Given the description of an element on the screen output the (x, y) to click on. 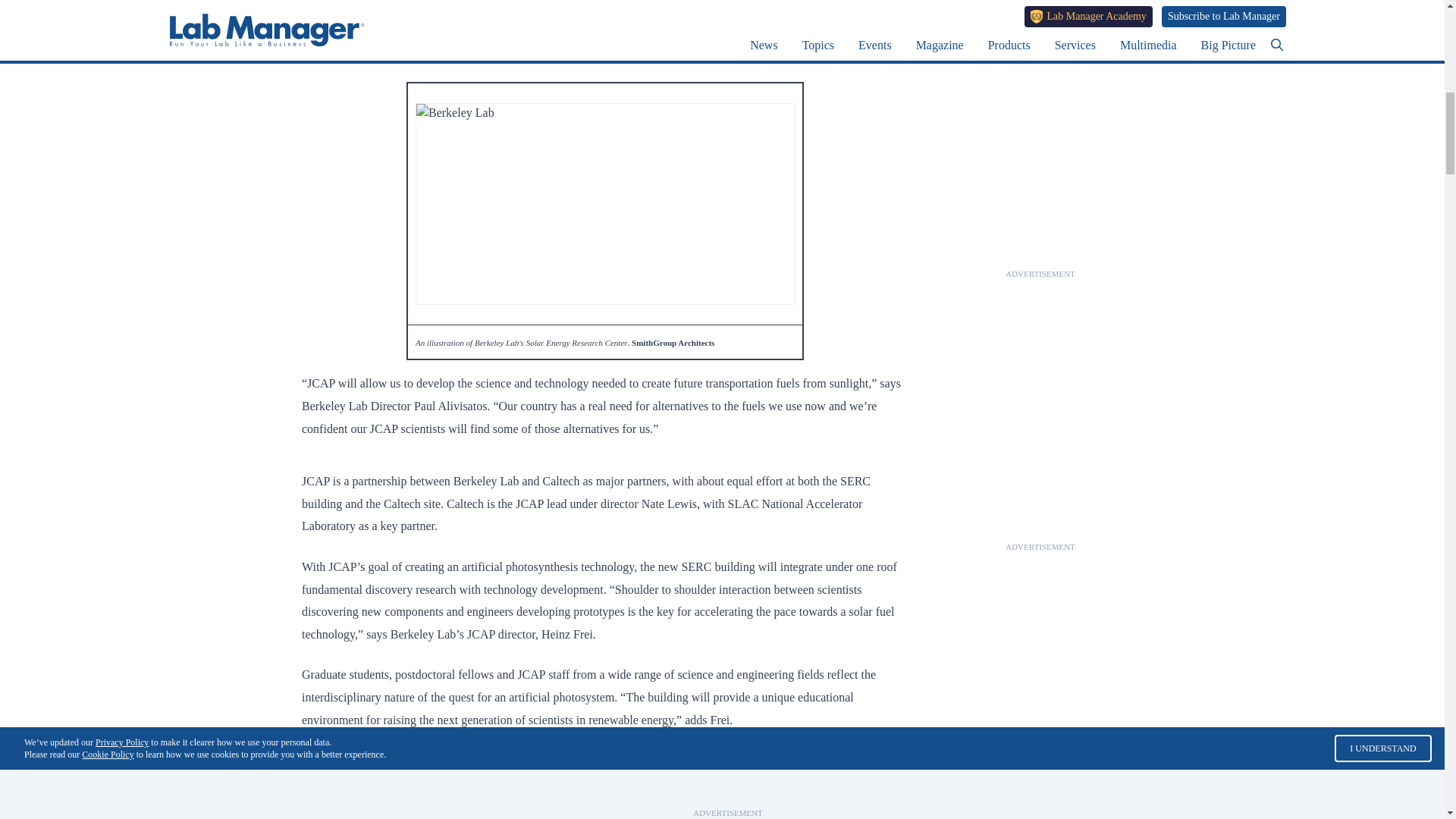
3rd party ad content (1040, 63)
3rd party ad content (1040, 446)
3rd party ad content (1040, 792)
